Given the description of an element on the screen output the (x, y) to click on. 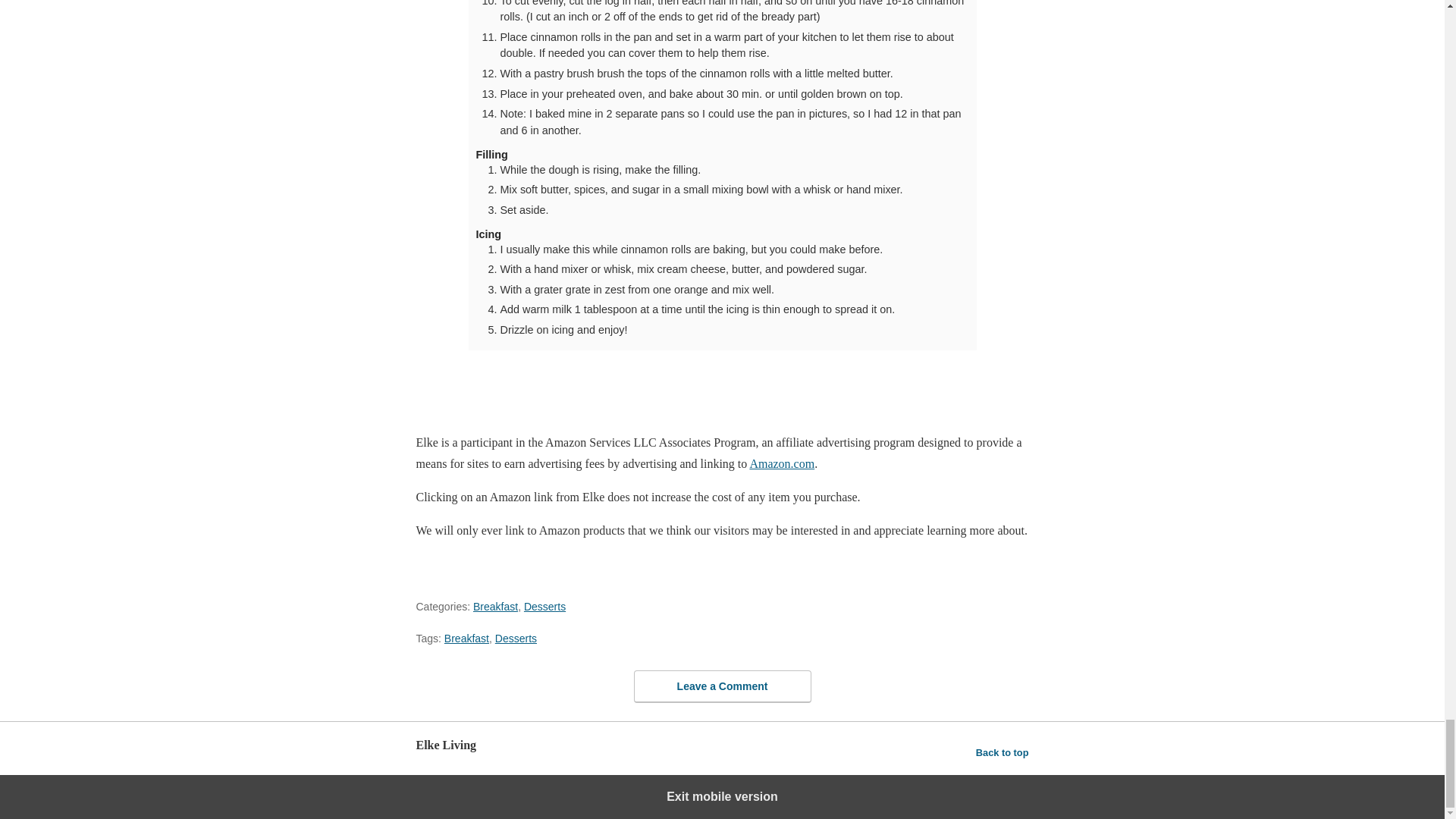
Desserts (516, 638)
Amazon.com (781, 463)
Leave a Comment (721, 686)
Breakfast (495, 606)
Back to top (1002, 752)
Desserts (545, 606)
Breakfast (466, 638)
